Given the description of an element on the screen output the (x, y) to click on. 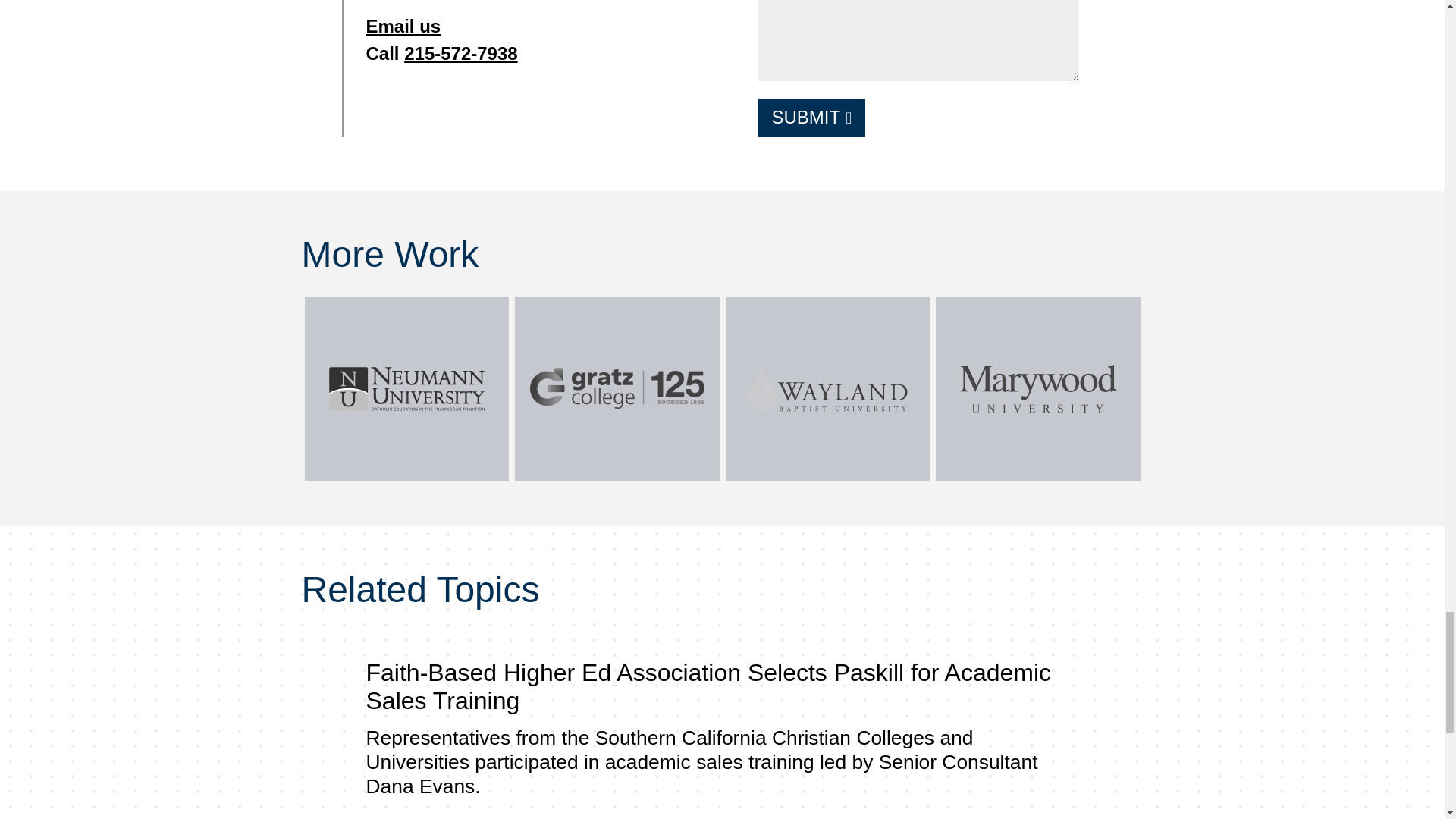
Email us (403, 25)
